Given the description of an element on the screen output the (x, y) to click on. 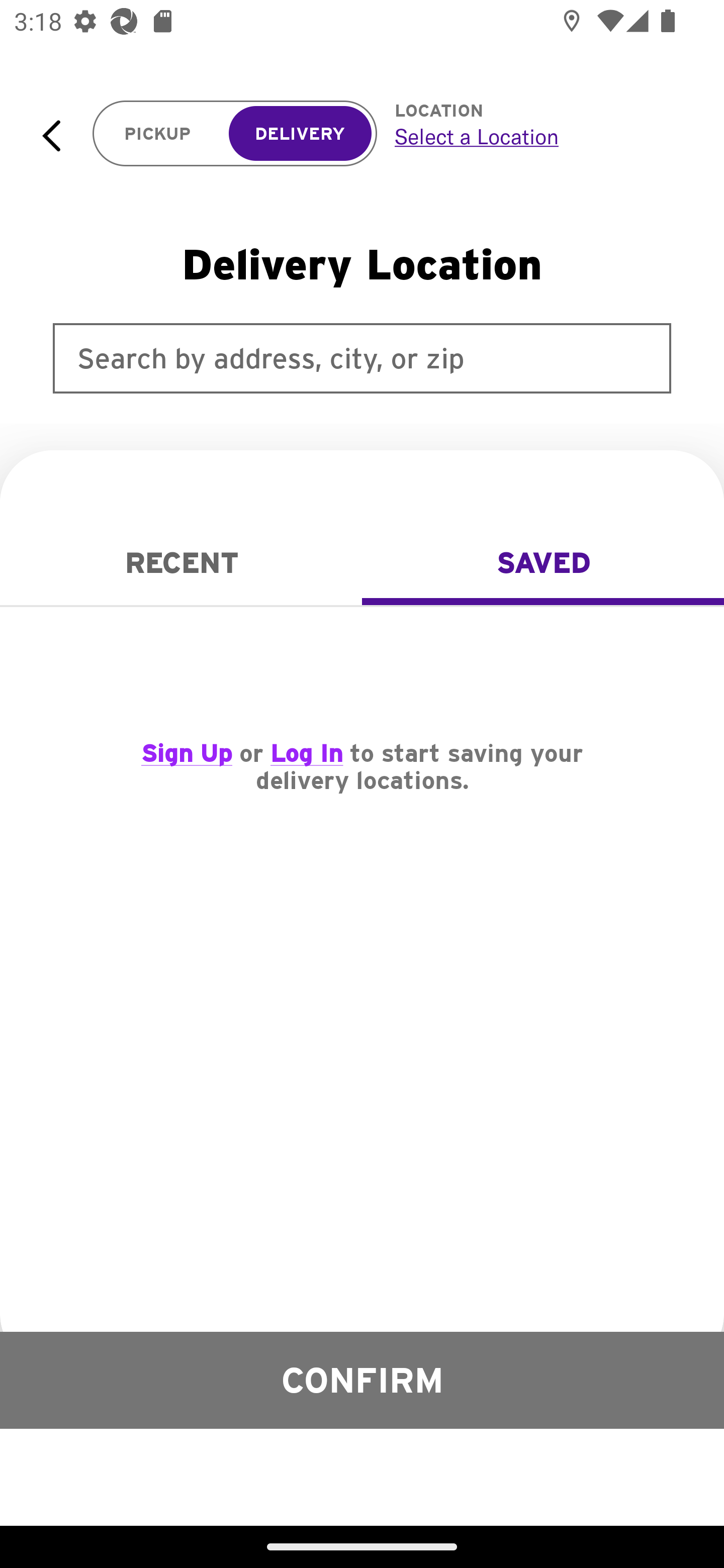
PICKUP (157, 133)
DELIVERY (299, 133)
Select a Location (536, 136)
Search by address, city, or zip (361, 358)
Recent RECENT (181, 562)
CONFIRM (362, 1379)
